Given the description of an element on the screen output the (x, y) to click on. 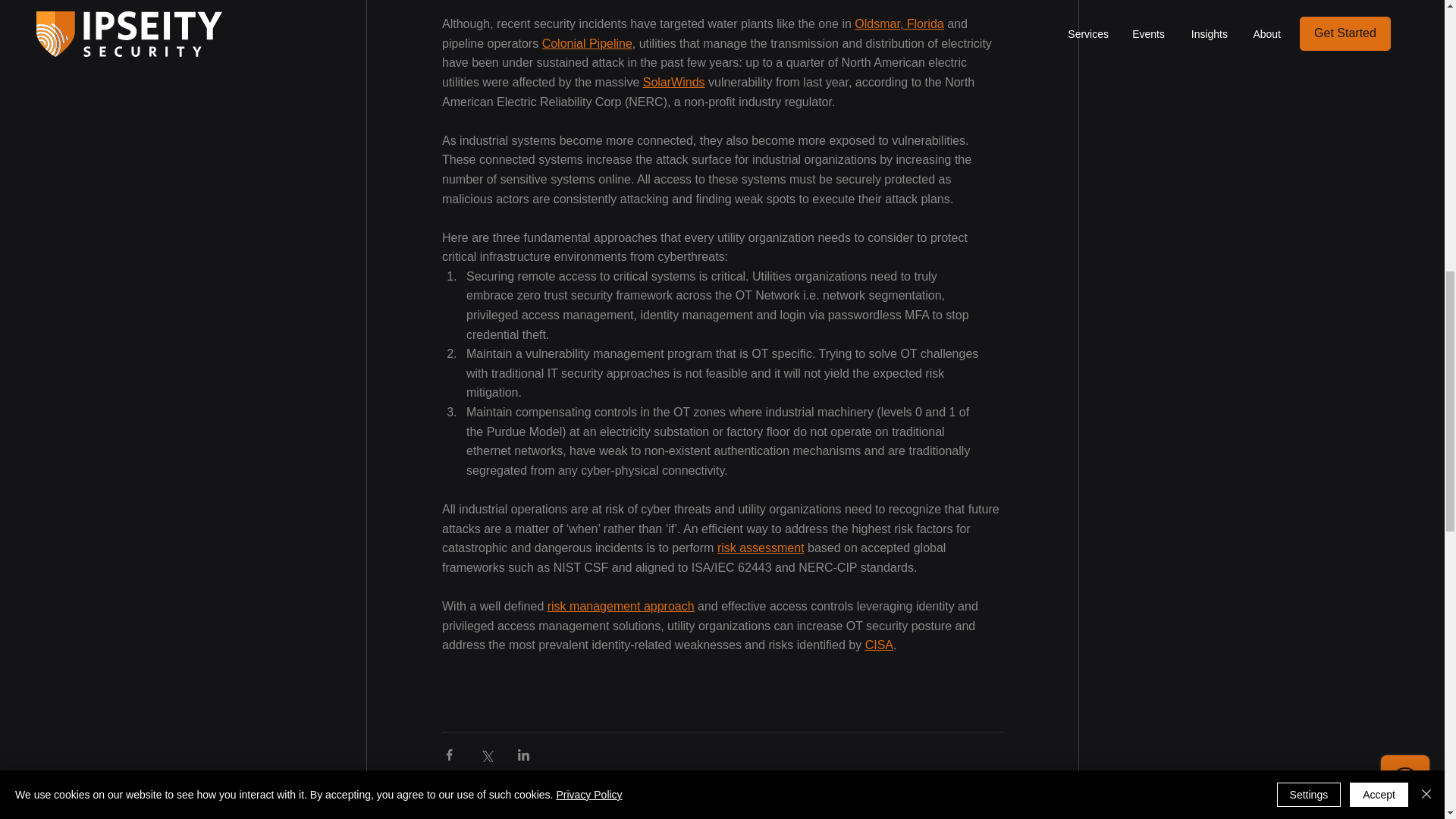
Colonial Pipeline (586, 42)
Oldsmar, Florida (898, 23)
SolarWinds (673, 82)
CISA (878, 644)
risk management approach (620, 605)
risk assessment (759, 547)
